Given the description of an element on the screen output the (x, y) to click on. 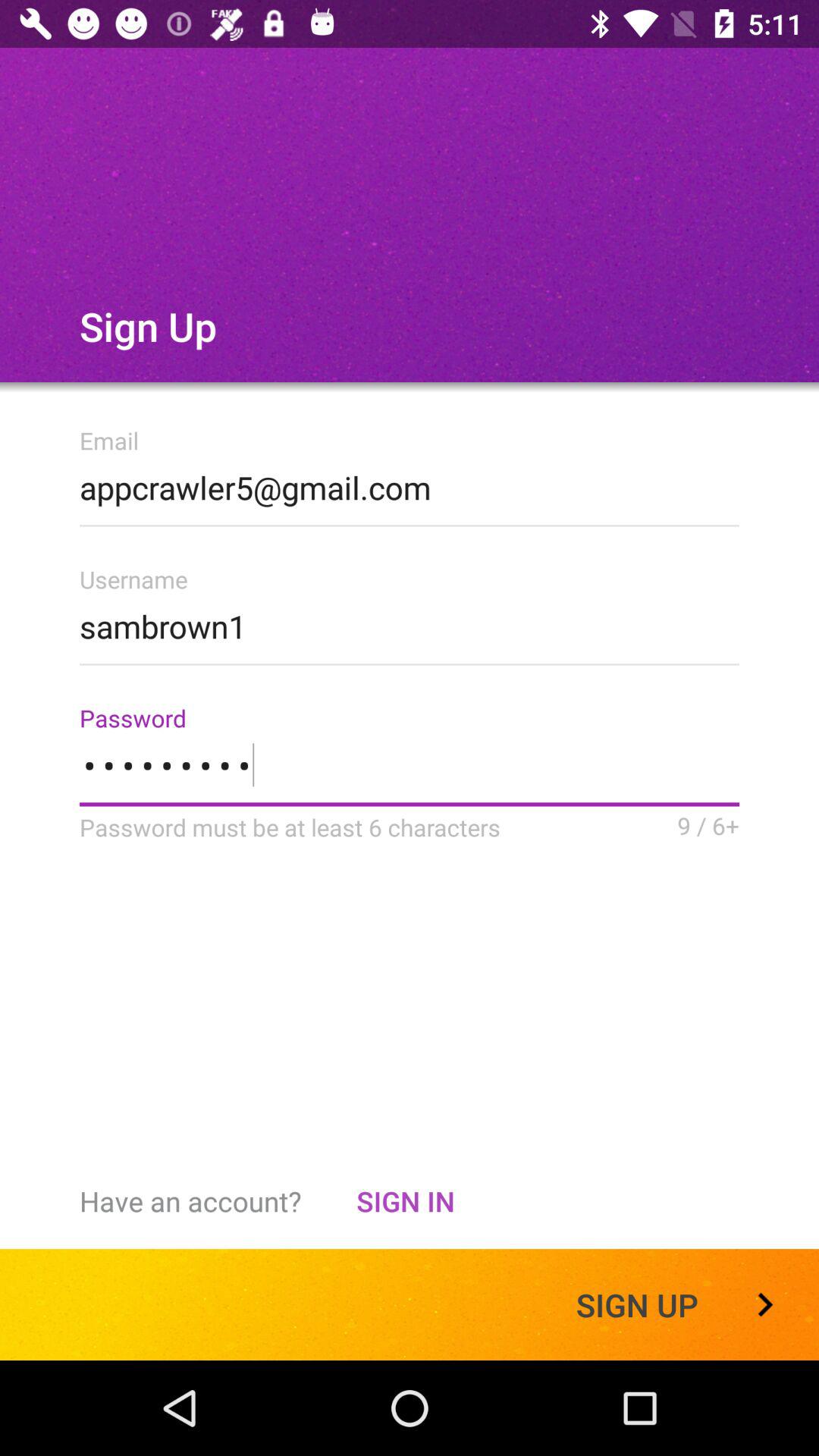
tap icon above the sambrown1 item (409, 482)
